Given the description of an element on the screen output the (x, y) to click on. 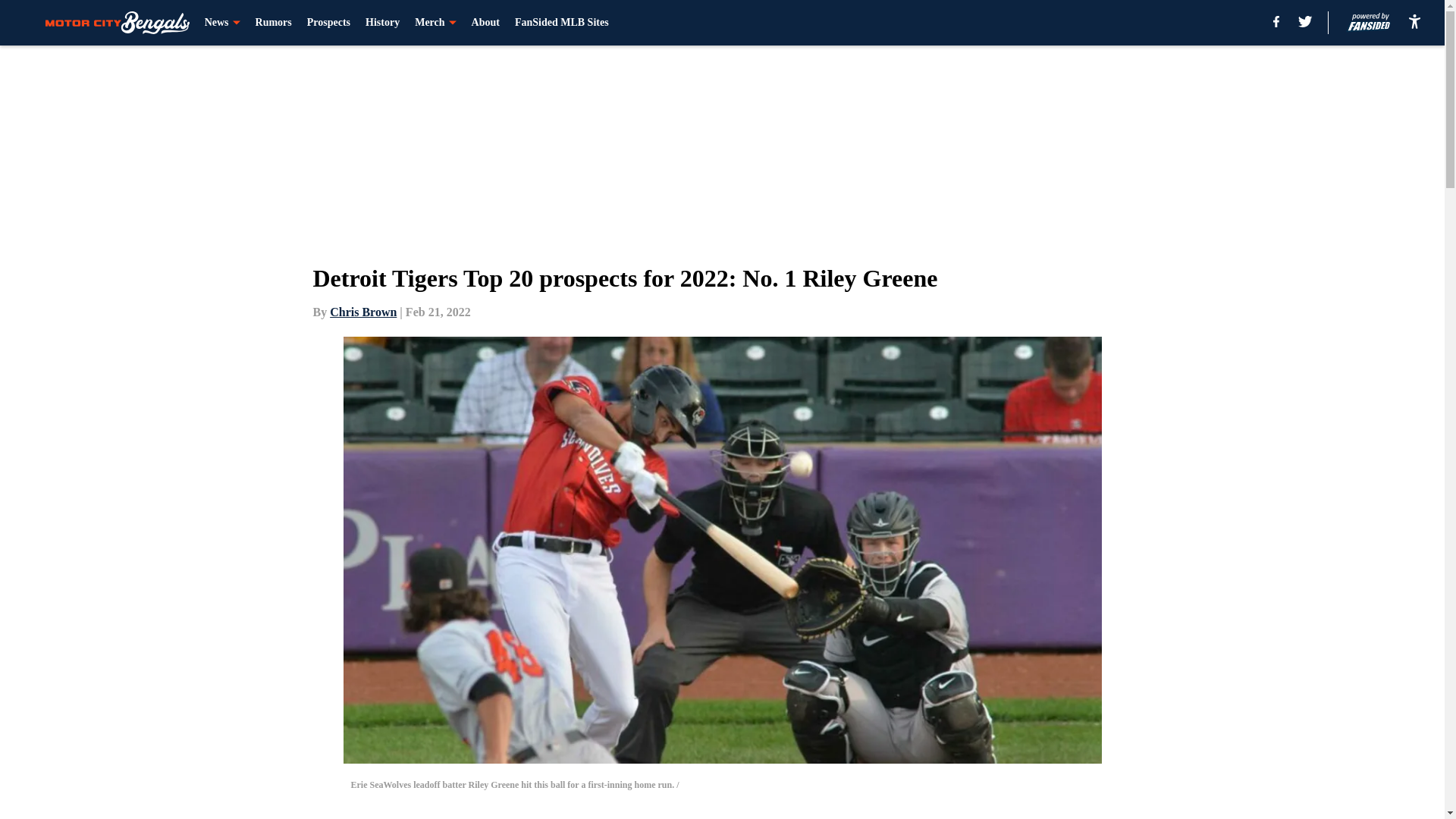
History (381, 22)
Chris Brown (363, 311)
FanSided MLB Sites (561, 22)
Prospects (328, 22)
About (485, 22)
Rumors (274, 22)
News (222, 22)
